Given the description of an element on the screen output the (x, y) to click on. 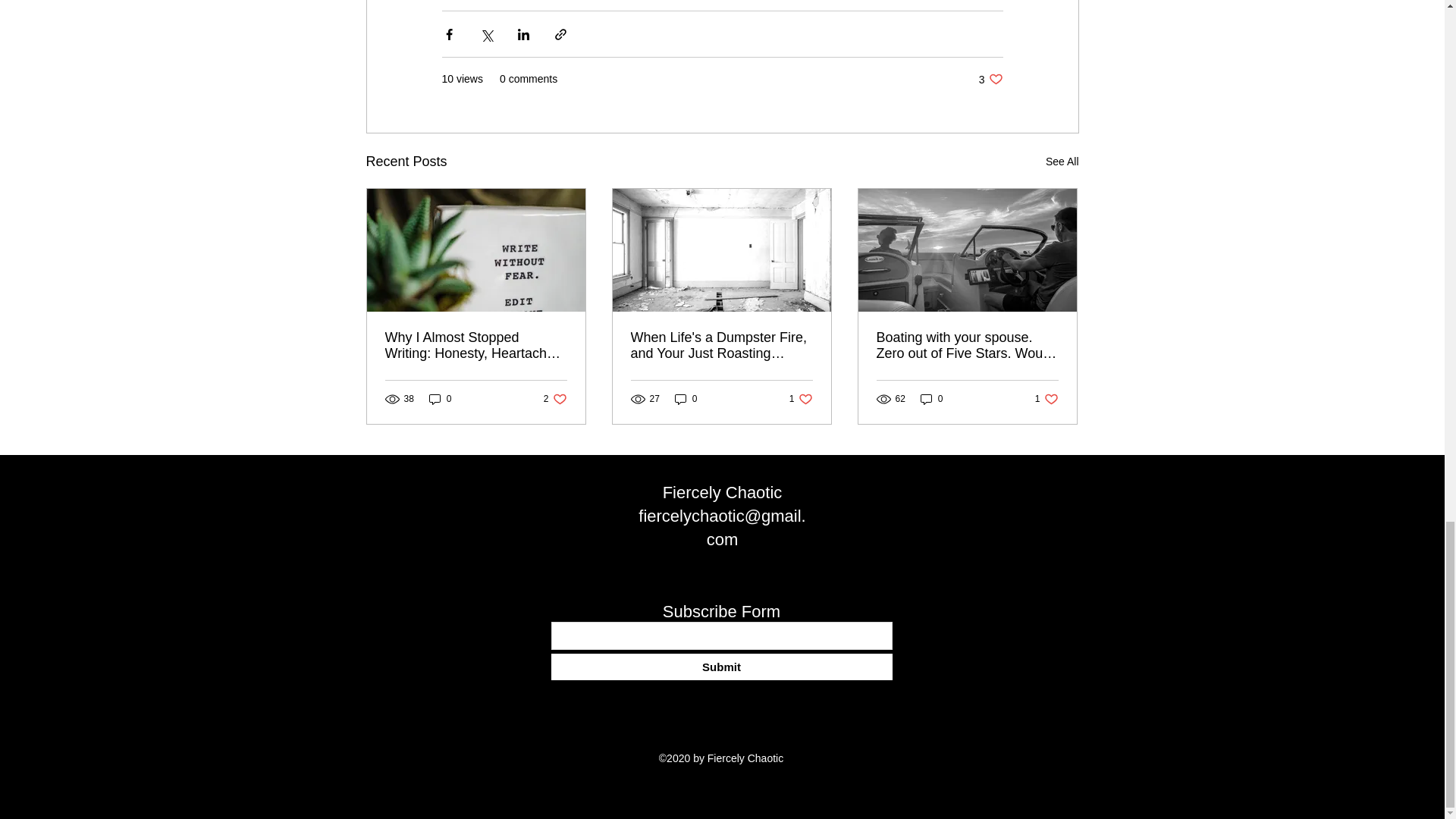
0 (440, 399)
See All (1061, 161)
Submit (555, 399)
0 (1046, 399)
